Given the description of an element on the screen output the (x, y) to click on. 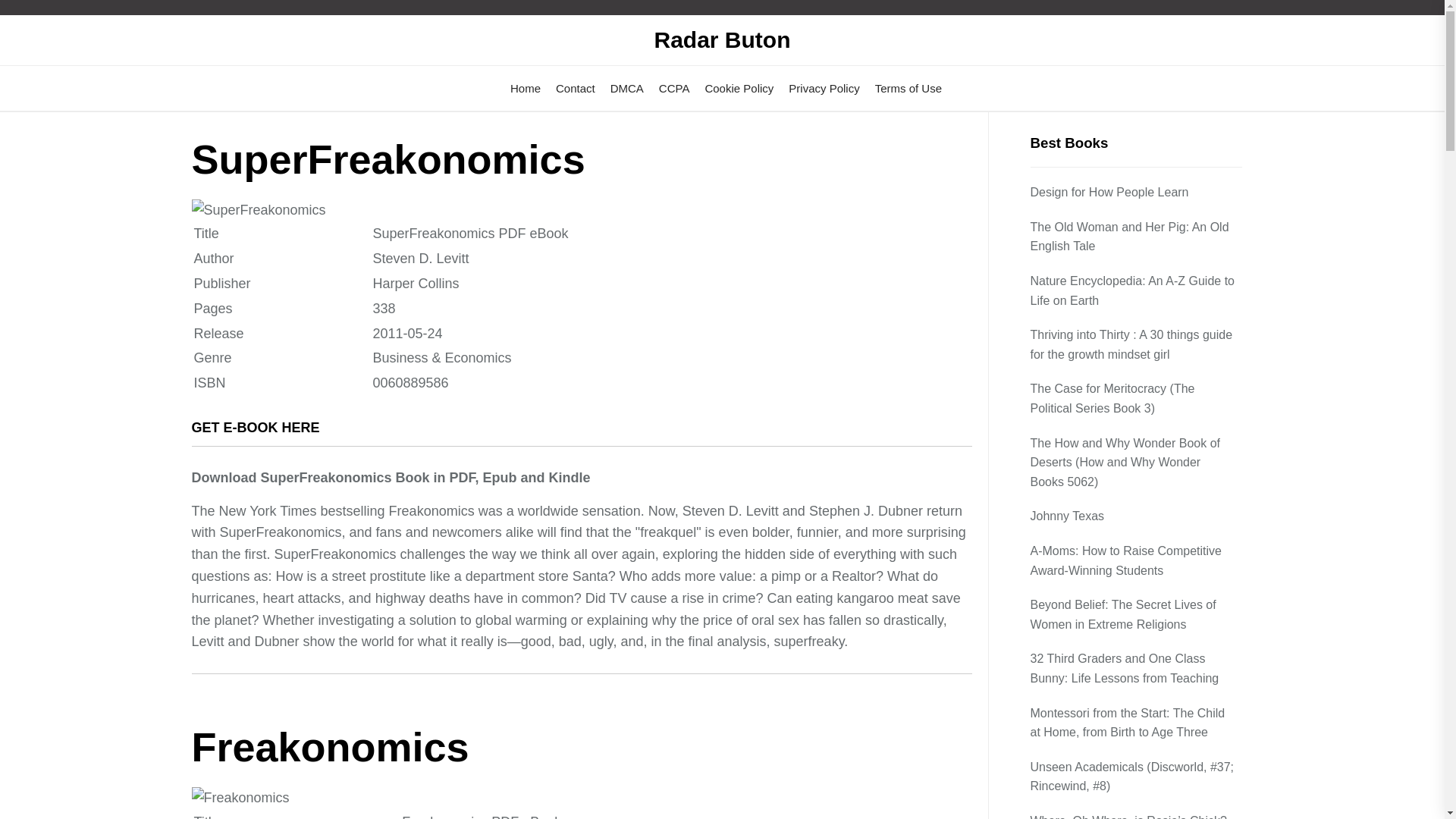
Home (525, 88)
Design for How People Learn (1111, 192)
Privacy Policy (824, 88)
The Old Woman and Her Pig: An Old English Tale (1135, 236)
CCPA (674, 88)
Cookie Policy (738, 88)
Radar Buton (721, 40)
Johnny Texas (1068, 516)
